Given the description of an element on the screen output the (x, y) to click on. 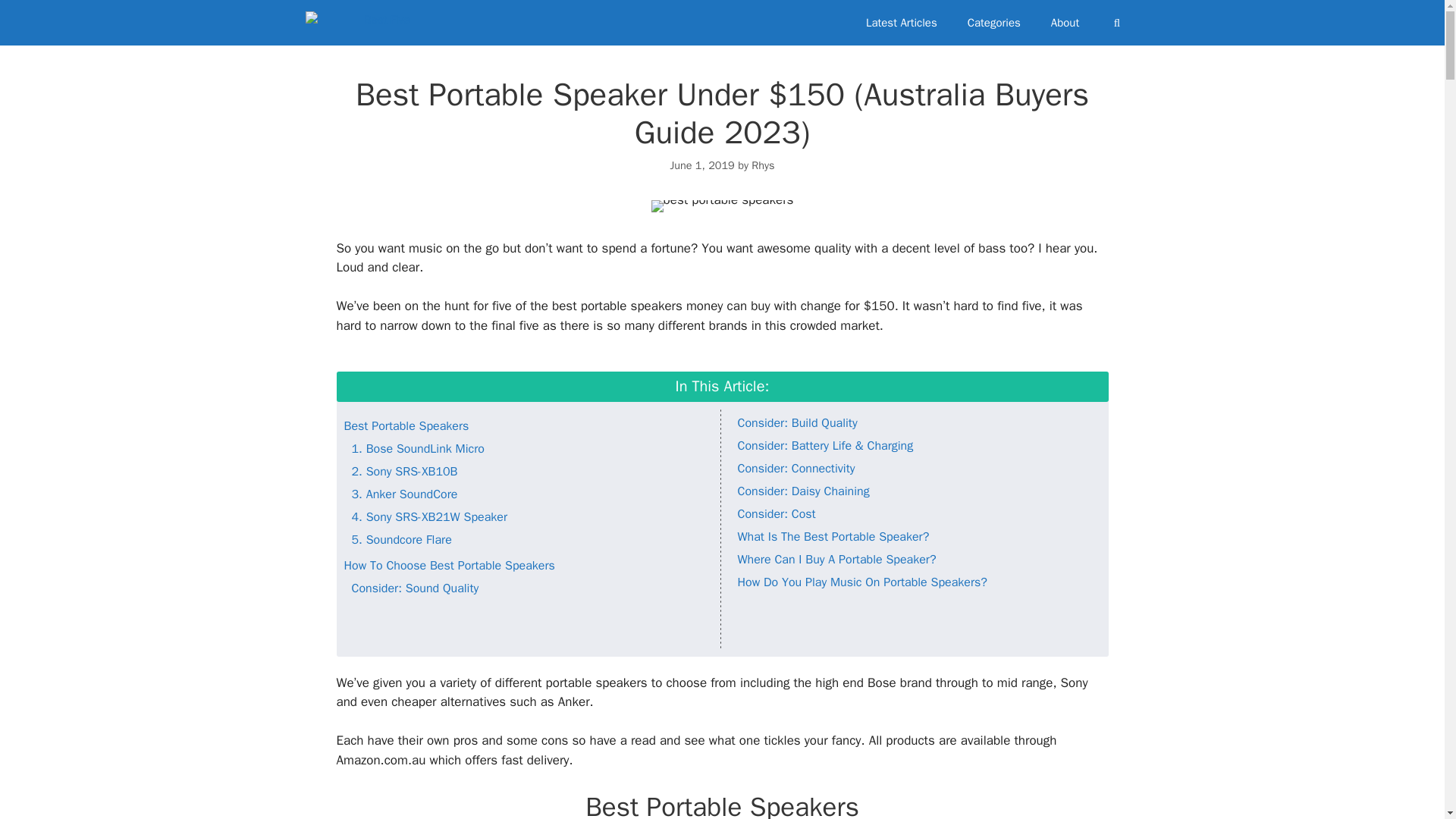
Consider: Sound Quality (415, 588)
How To Choose Best Portable Speakers (448, 565)
About (1064, 22)
How Do You Play Music On Portable Speakers? (861, 581)
Consider: Connectivity (795, 468)
2. Sony SRS-XB10B (405, 471)
Best Five (360, 22)
View all posts by Rhys (762, 164)
Best Portable Speakers (405, 426)
What Is The Best Portable Speaker? (832, 536)
